Given the description of an element on the screen output the (x, y) to click on. 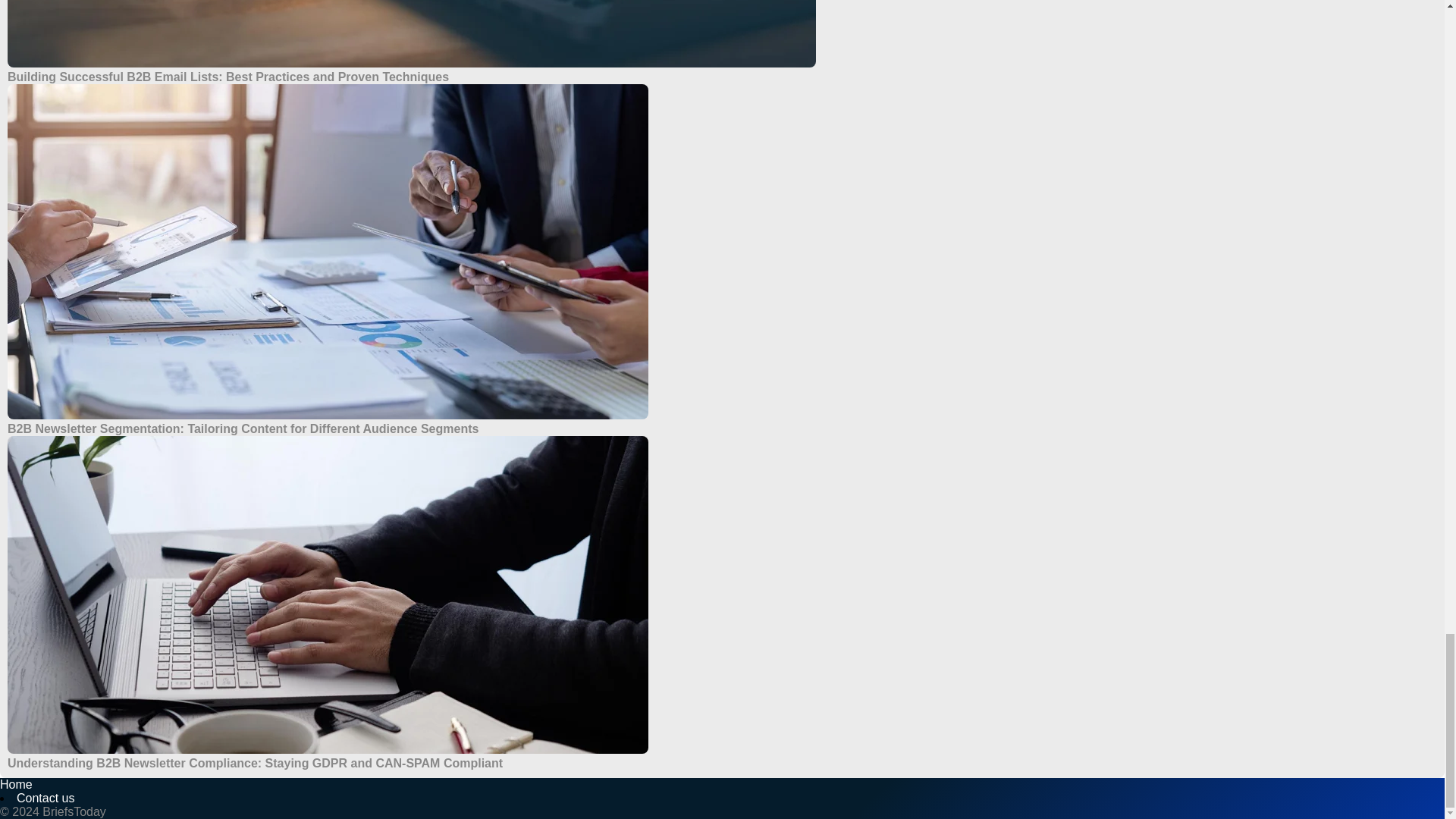
Contact us (45, 797)
Home (16, 784)
